Given the description of an element on the screen output the (x, y) to click on. 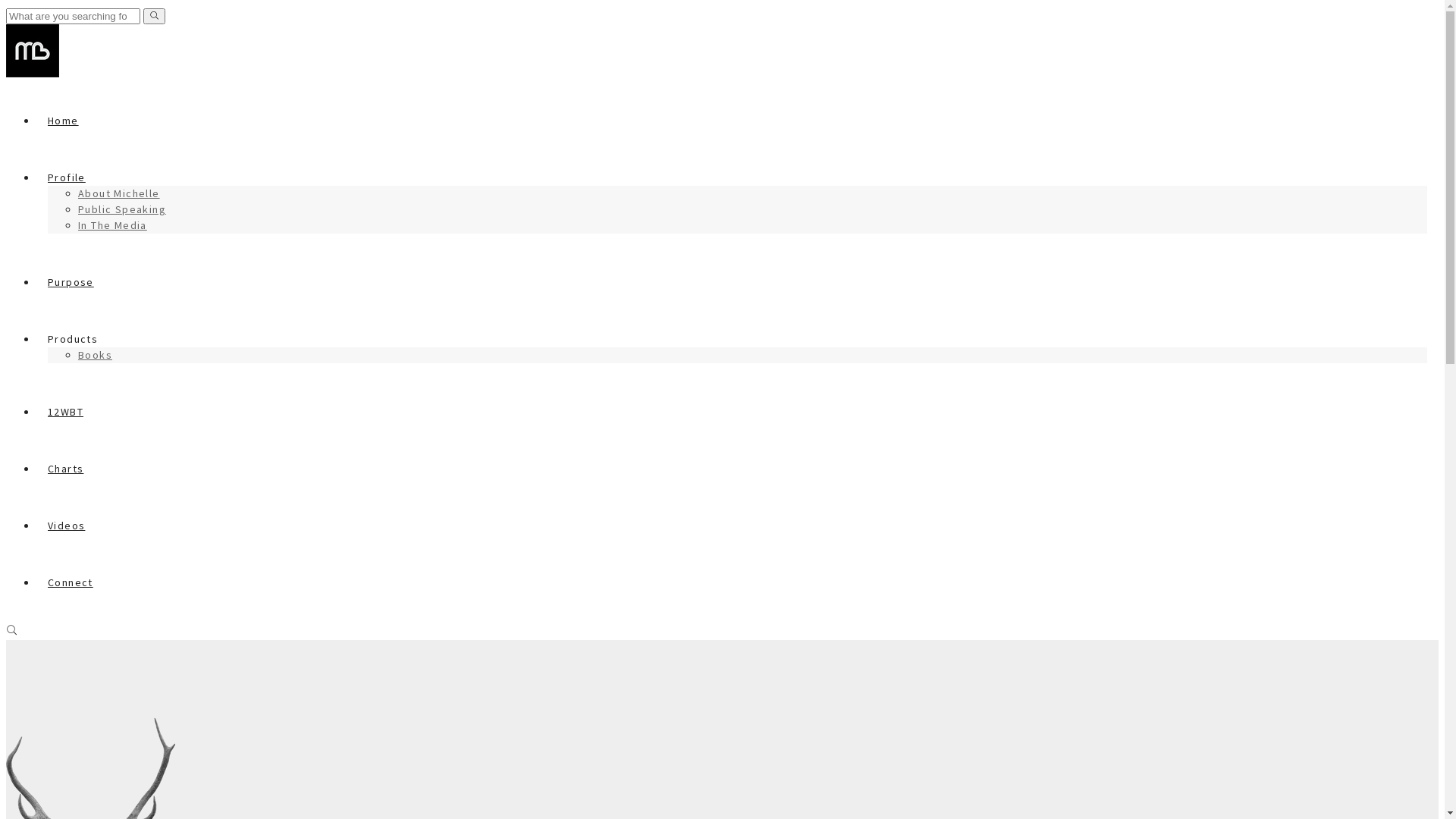
Charts Element type: text (65, 468)
Books Element type: text (95, 354)
What are you searching for? Element type: hover (73, 16)
Profile Element type: text (66, 177)
Home Element type: text (62, 120)
12WBT Element type: text (65, 411)
Public Speaking Element type: text (122, 209)
Products Element type: text (72, 338)
About Michelle Element type: text (119, 193)
In The Media Element type: text (112, 225)
Connect Element type: text (70, 582)
Purpose Element type: text (70, 281)
Videos Element type: text (65, 525)
